Given the description of an element on the screen output the (x, y) to click on. 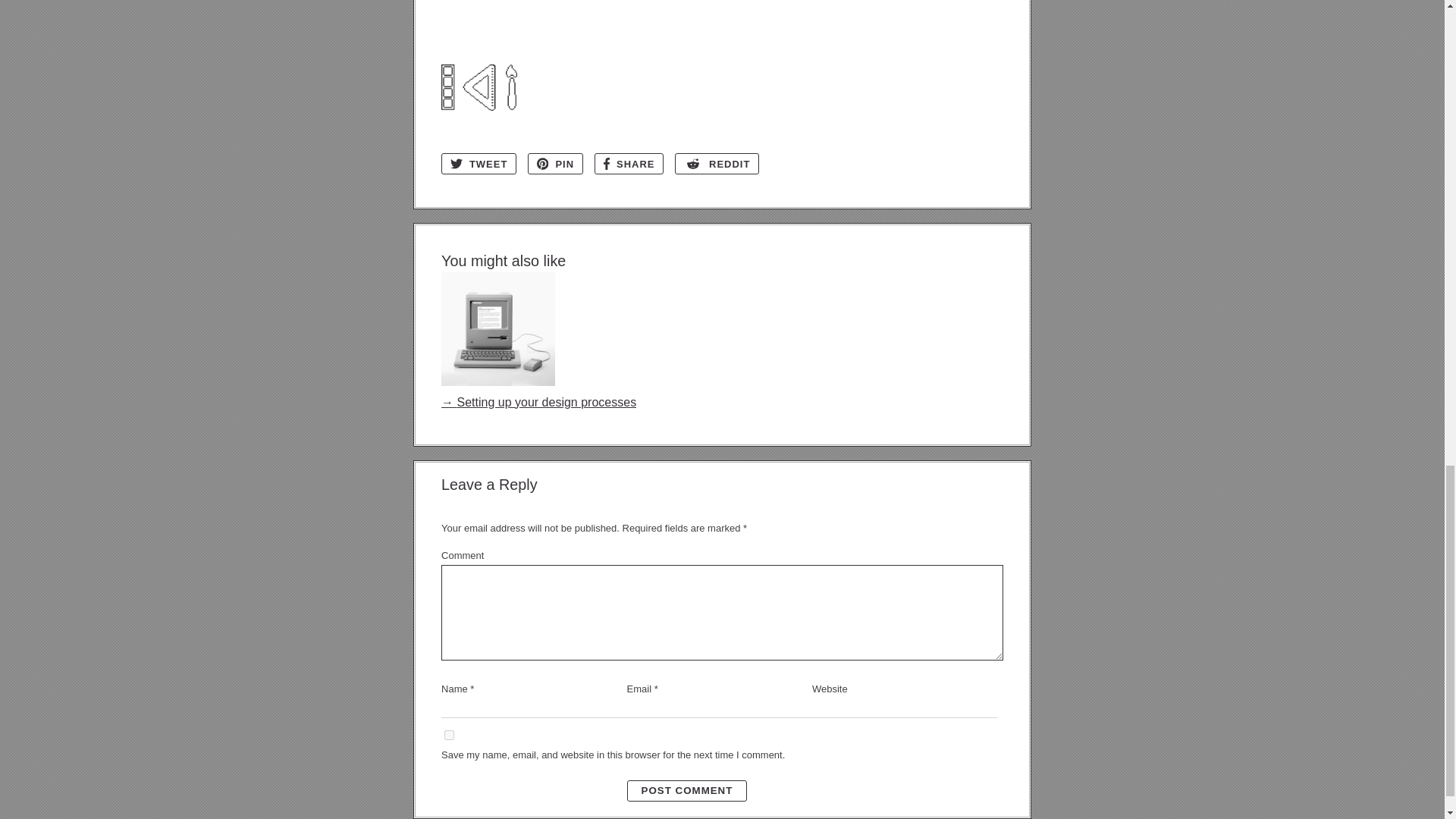
TWEET (478, 164)
REDDIT (716, 164)
Setting up your design processes (538, 392)
Setting up your design processes (538, 392)
PIN (555, 164)
Post Comment (687, 790)
Post Comment (687, 790)
SHARE (628, 164)
yes (449, 735)
